Given the description of an element on the screen output the (x, y) to click on. 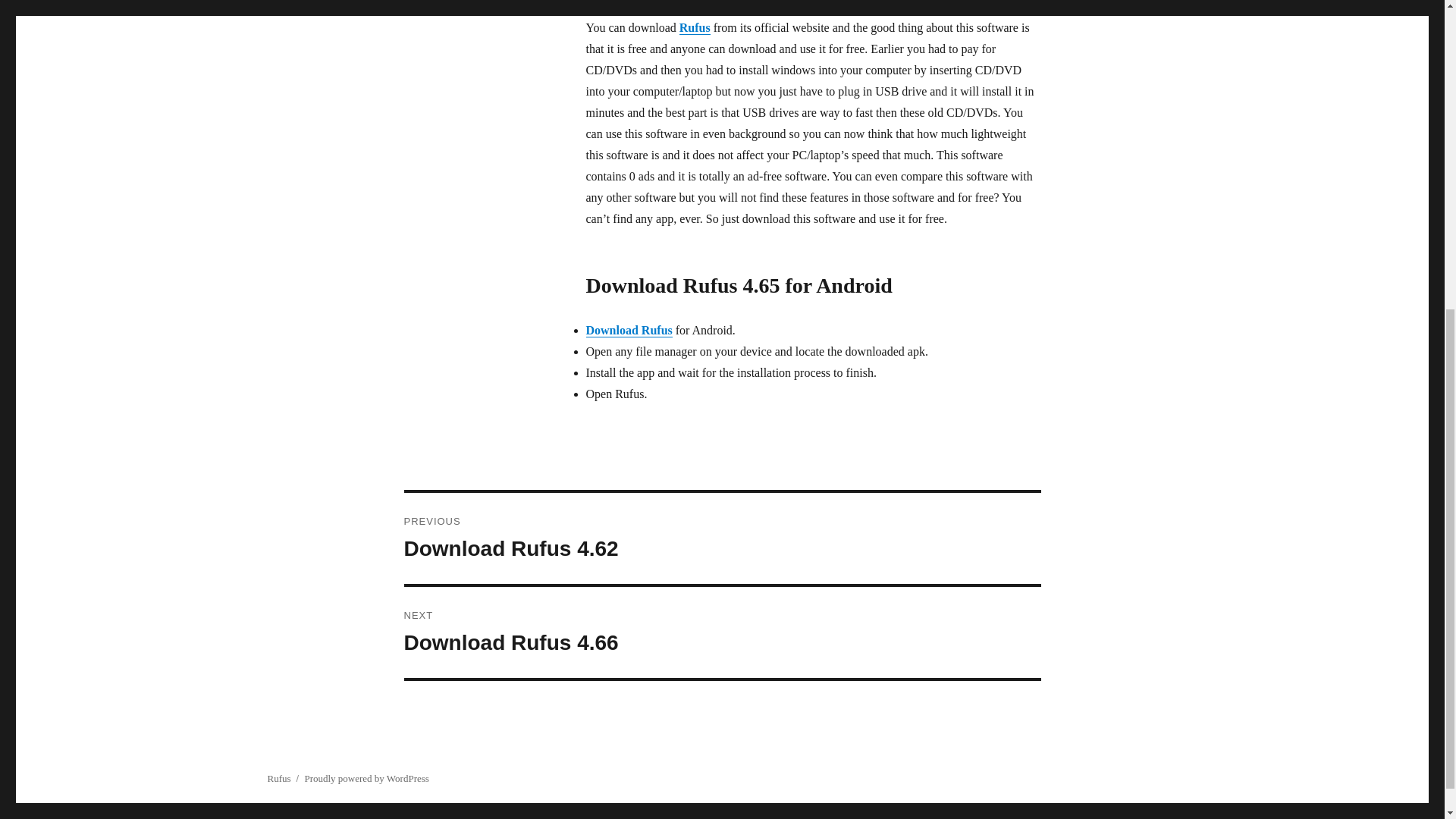
Rufus (722, 538)
Rufus (694, 27)
Download Rufus (277, 778)
Proudly powered by WordPress (722, 632)
